Given the description of an element on the screen output the (x, y) to click on. 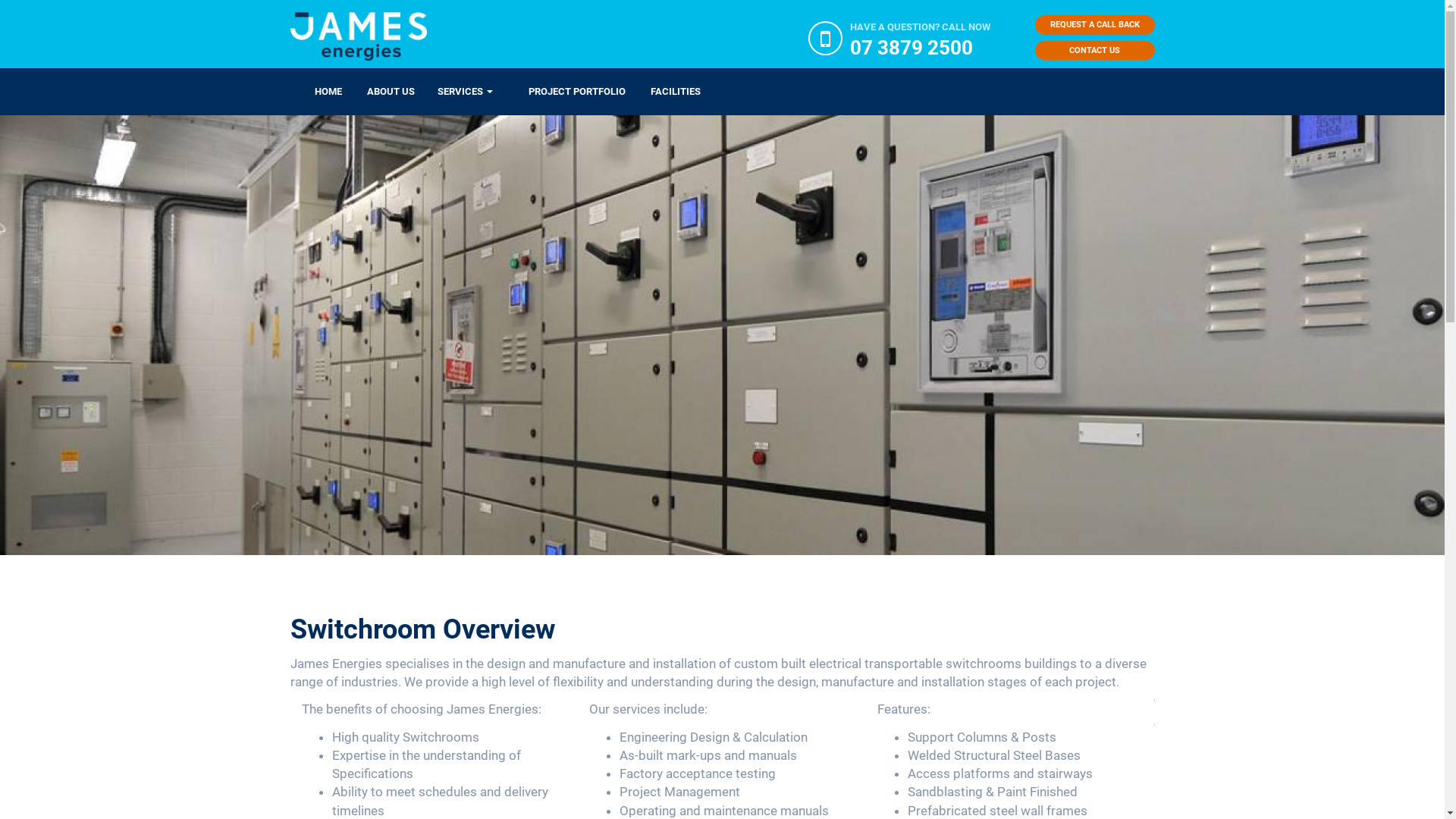
Skip to main content Element type: text (0, 113)
PROJECT PORTFOLIO Element type: text (564, 91)
ABOUT US Element type: text (378, 91)
CONTACT US Element type: text (1094, 50)
SERVICES Element type: text (465, 91)
07 3879 2500 Element type: text (920, 48)
HOME Element type: text (315, 91)
REQUEST A CALL BACK Element type: text (1094, 24)
Home Element type: hover (363, 36)
FACILITIES Element type: text (662, 91)
